Given the description of an element on the screen output the (x, y) to click on. 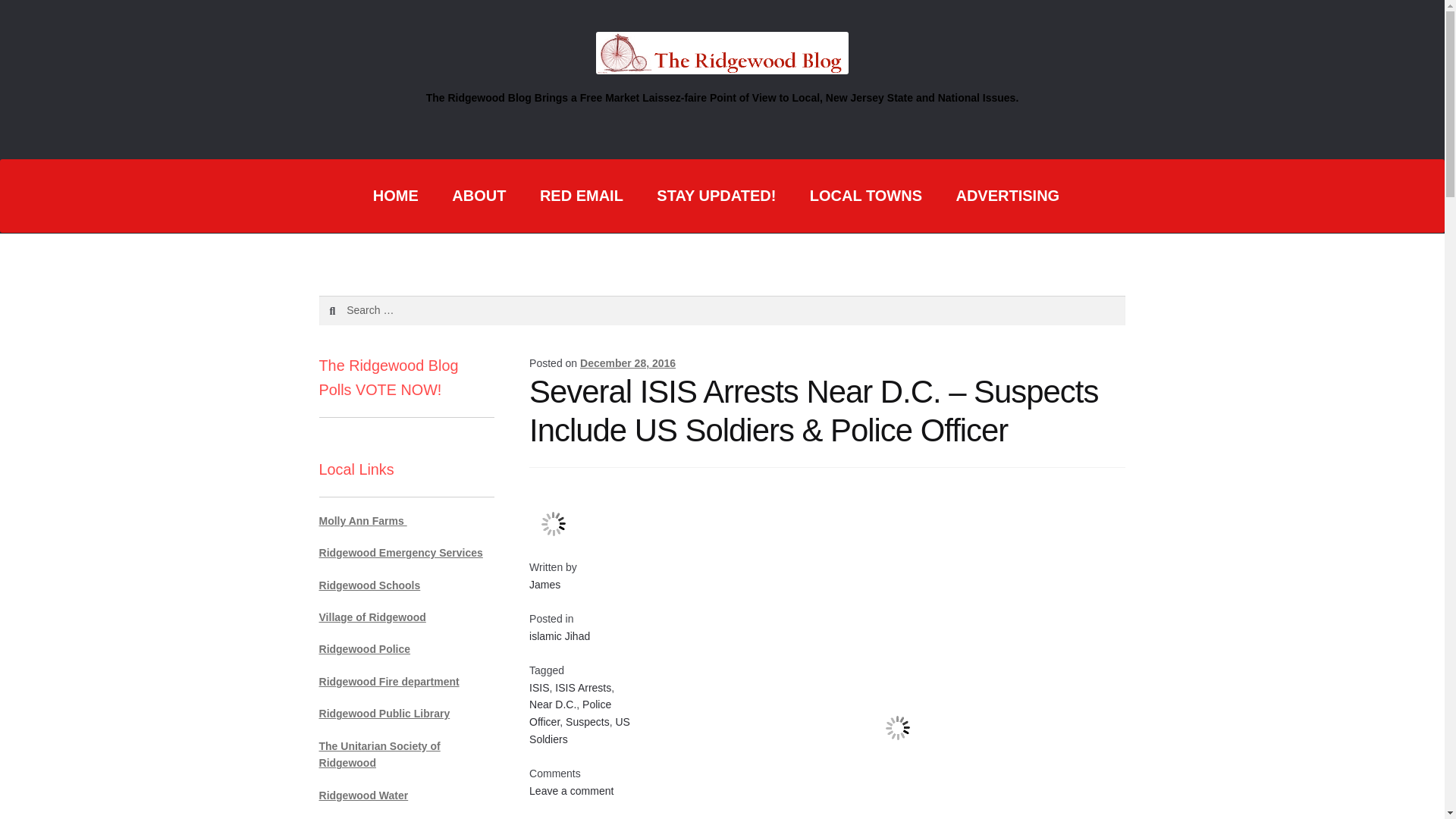
ADVERTISING (1007, 195)
RED EMAIL (581, 195)
Ridgewood Police (364, 648)
LOCAL TOWNS (865, 195)
LOCAL NJ Towns News (865, 195)
US Soldiers (579, 730)
James (544, 584)
Near D.C. (552, 704)
December 28, 2016 (627, 363)
